Given the description of an element on the screen output the (x, y) to click on. 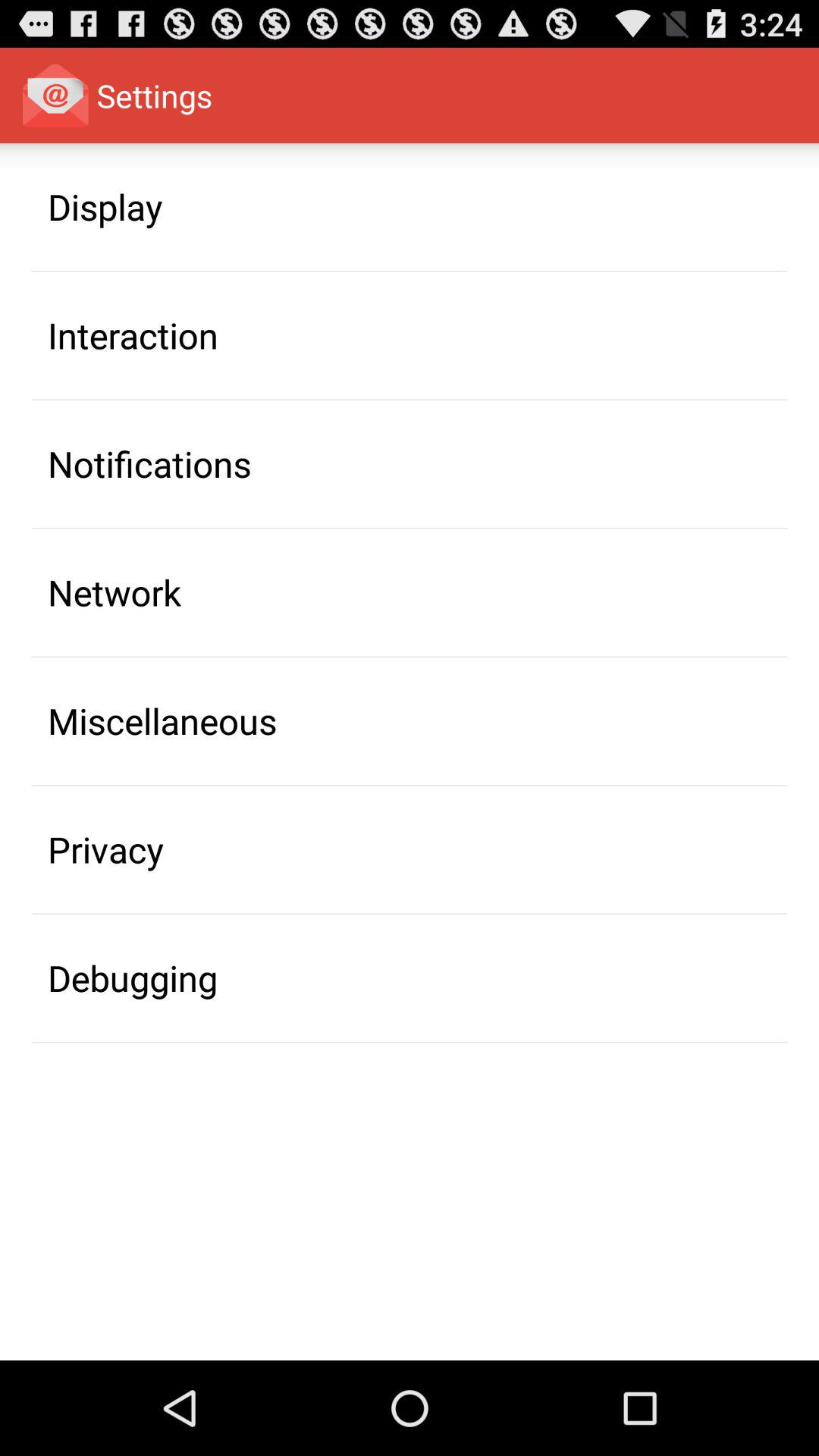
open the app below the network (161, 720)
